Given the description of an element on the screen output the (x, y) to click on. 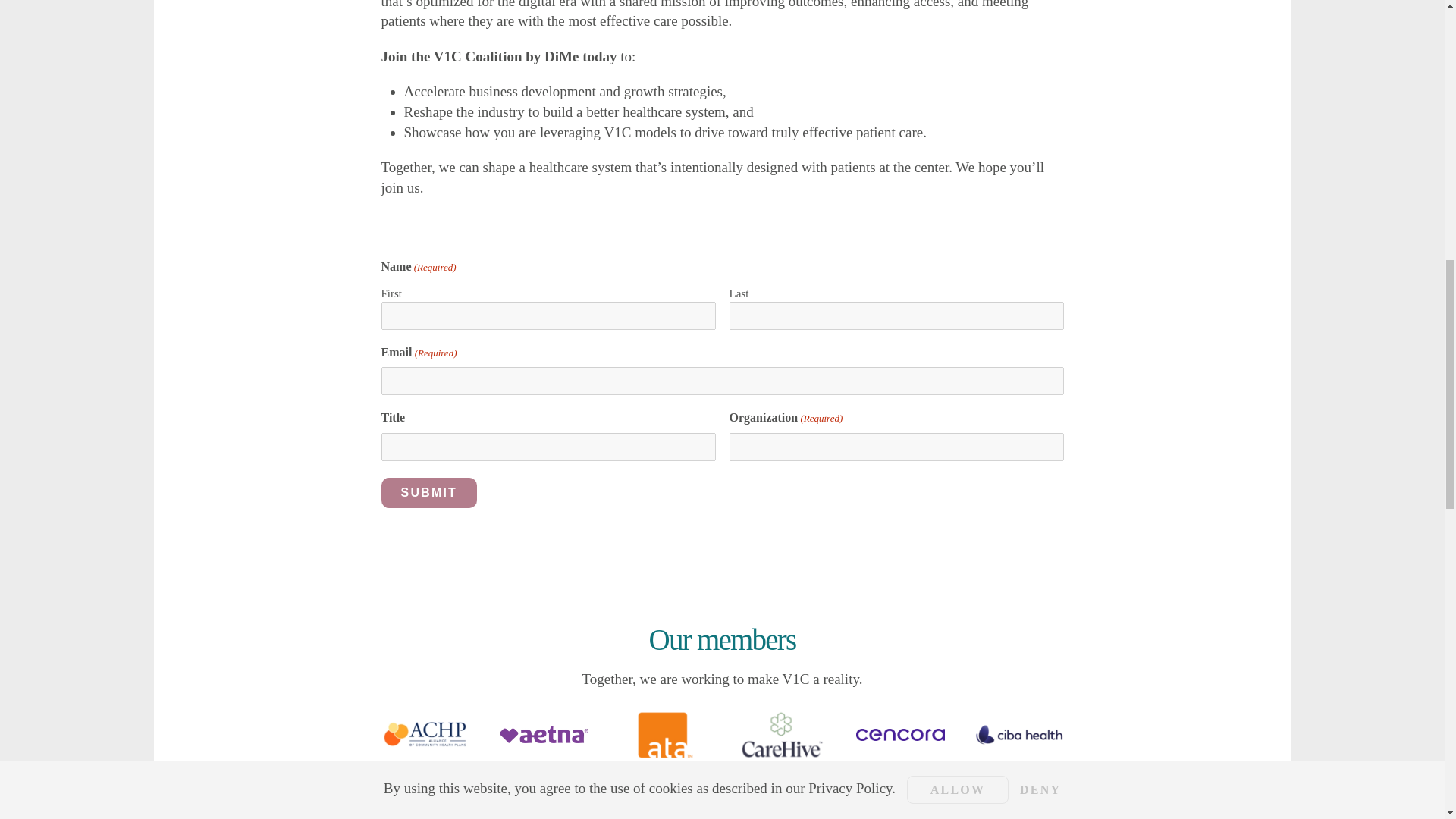
Submit (428, 492)
